Given the description of an element on the screen output the (x, y) to click on. 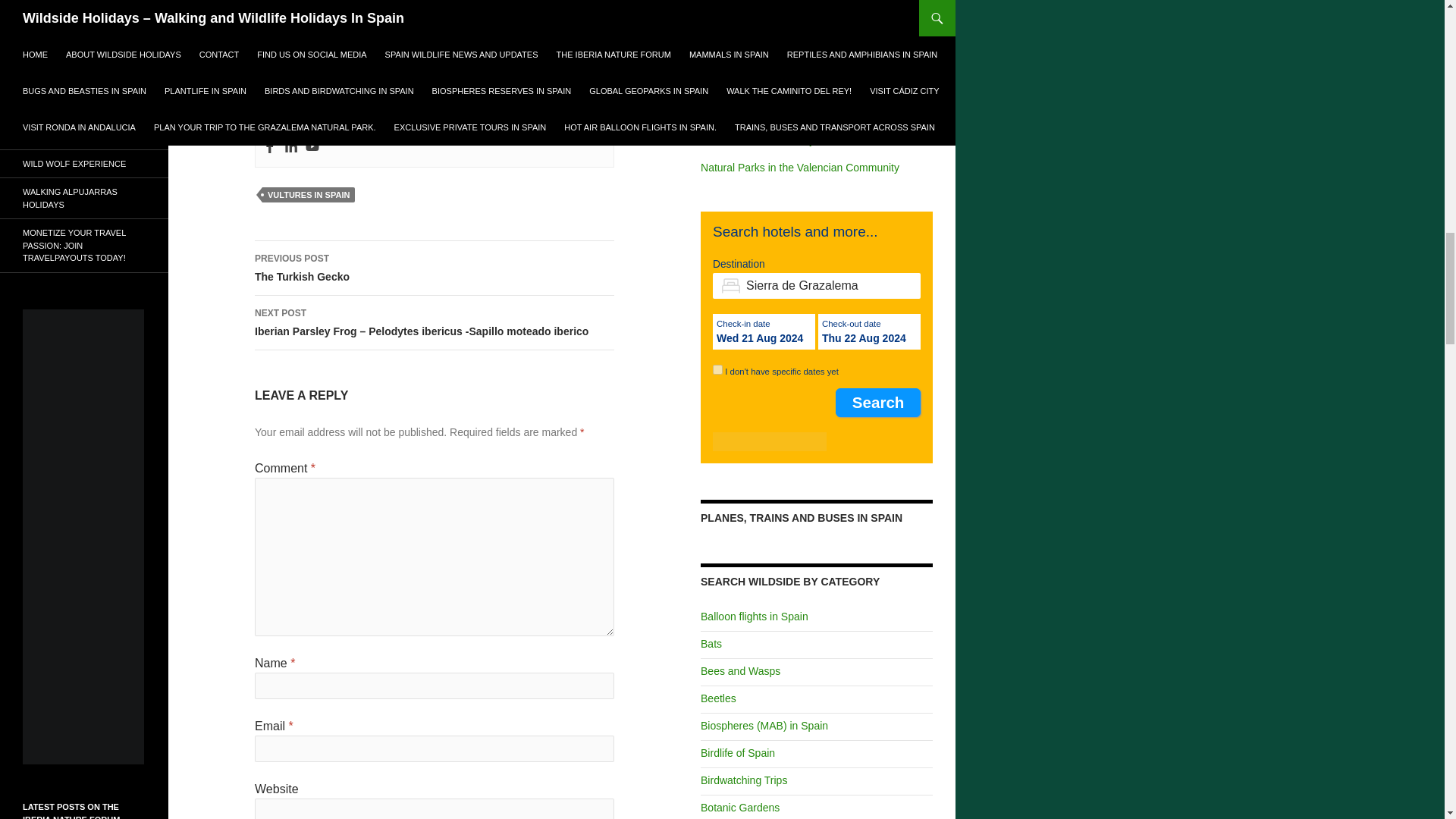
VULTURES IN SPAIN (308, 194)
on (717, 369)
Sierra de Grazalema (816, 285)
Search (434, 267)
